Given the description of an element on the screen output the (x, y) to click on. 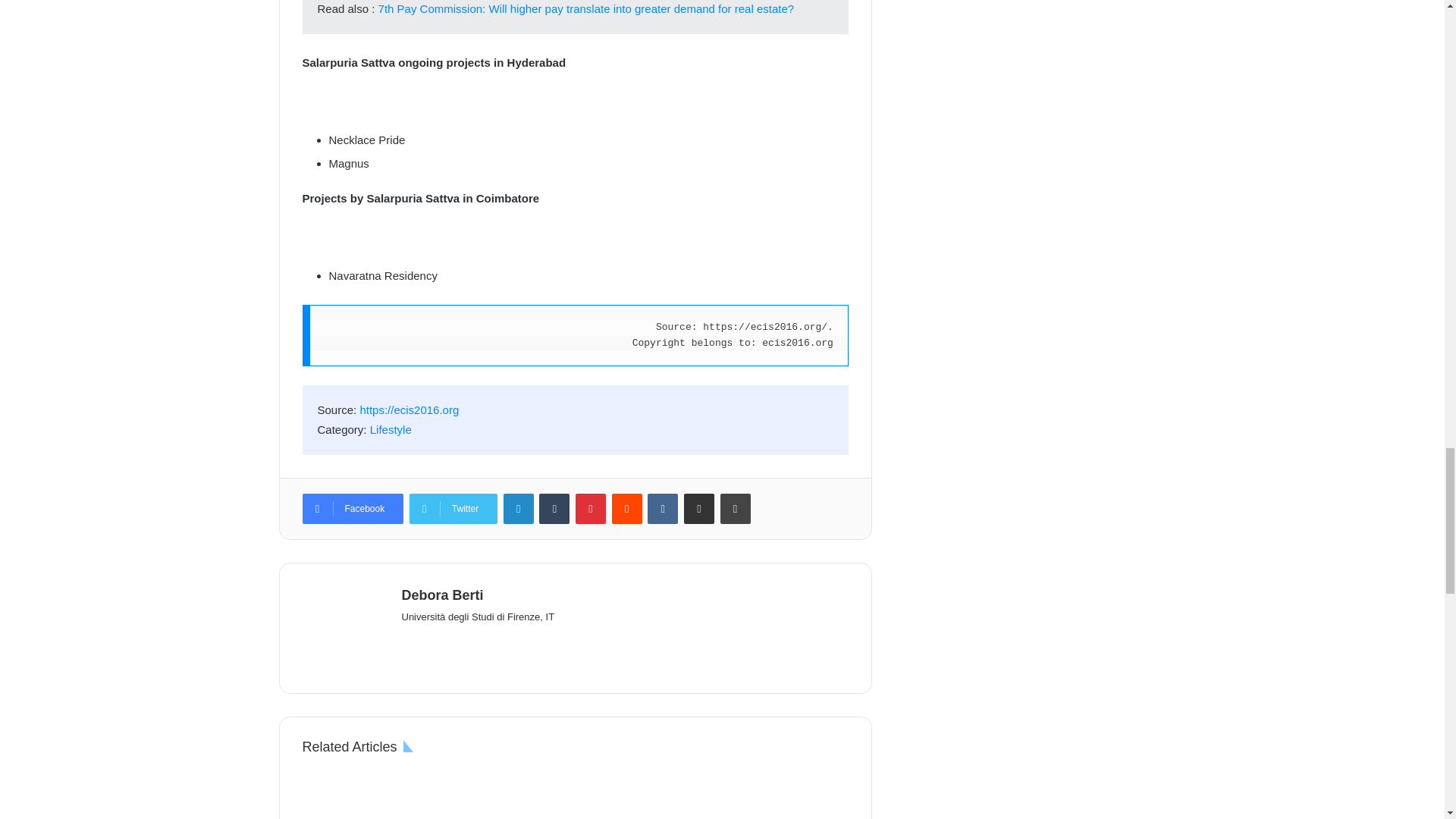
Facebook (352, 508)
LinkedIn (518, 508)
Lifestyle (390, 429)
LinkedIn (518, 508)
Reddit (626, 508)
Pinterest (590, 508)
Facebook (352, 508)
Tumblr (553, 508)
Pinterest (590, 508)
Twitter (453, 508)
Twitter (453, 508)
Tumblr (553, 508)
